Given the description of an element on the screen output the (x, y) to click on. 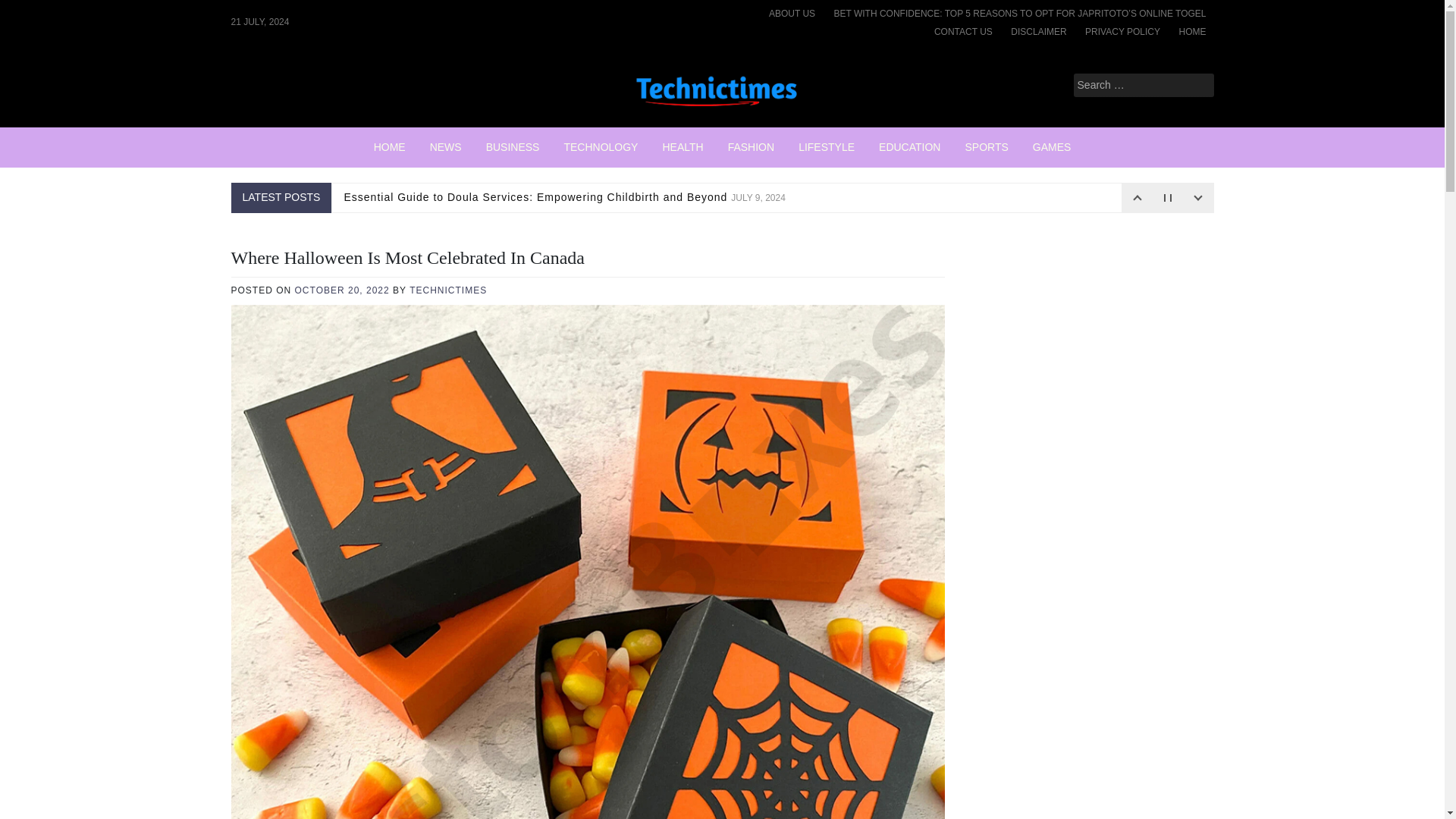
TECHNOLOGY (600, 147)
FASHION (751, 147)
EDUCATION (909, 147)
Search (32, 12)
PRIVACY POLICY (1122, 31)
OCTOBER 20, 2022 (342, 290)
GAMES (1051, 147)
TECHNICTIMES (447, 290)
CONTACT US (963, 31)
BUSINESS (512, 147)
DISCLAIMER (1038, 31)
ABOUT US (791, 13)
SPORTS (986, 147)
HOME (389, 147)
